Given the description of an element on the screen output the (x, y) to click on. 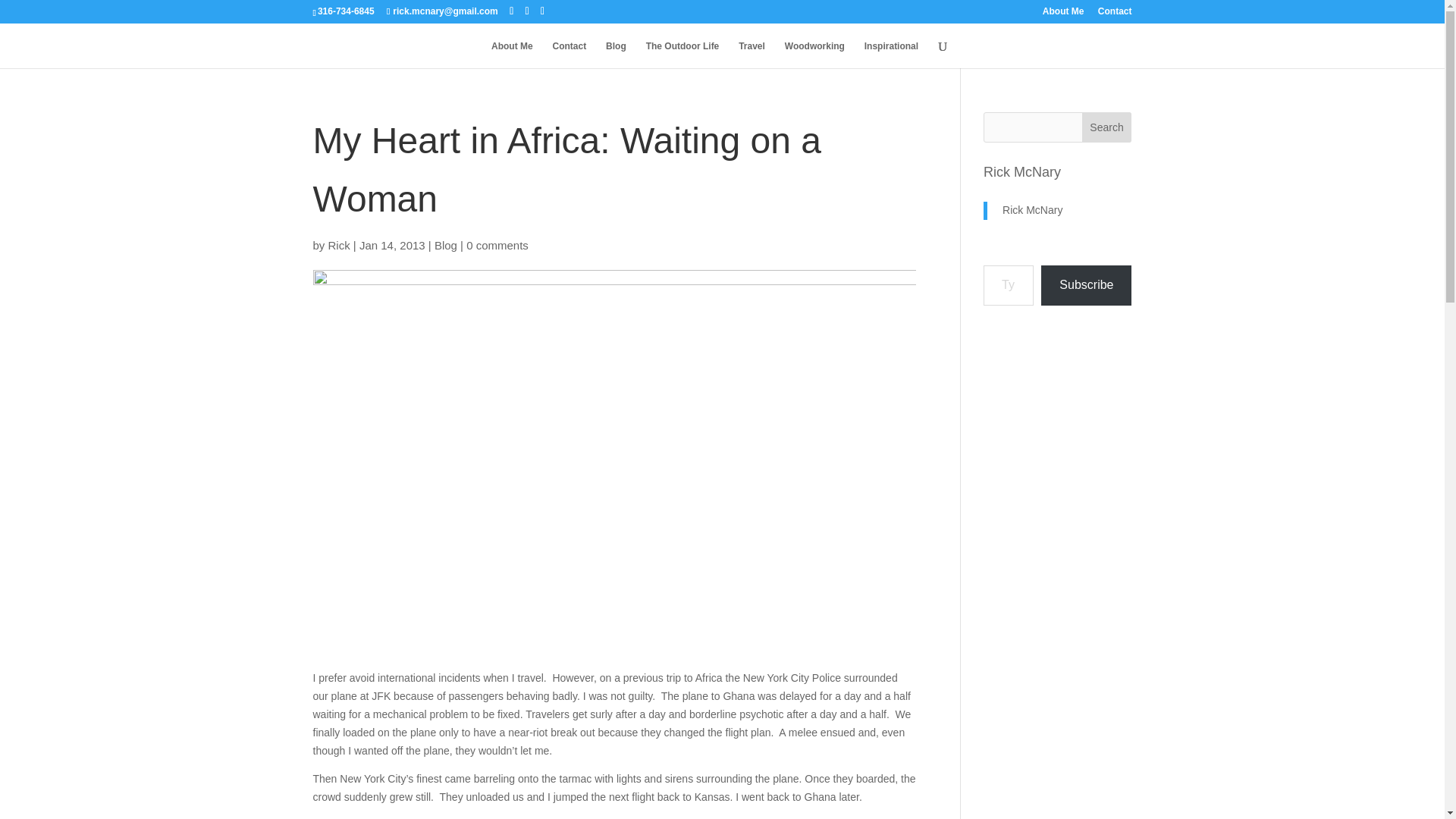
About Me (512, 53)
About Me (1063, 14)
Contact (1114, 14)
Inspirational (891, 53)
Posts by Rick (339, 245)
Blog (445, 245)
Rick McNary (1022, 171)
Rick (339, 245)
Rick McNary (1032, 209)
Travel (751, 53)
